Given the description of an element on the screen output the (x, y) to click on. 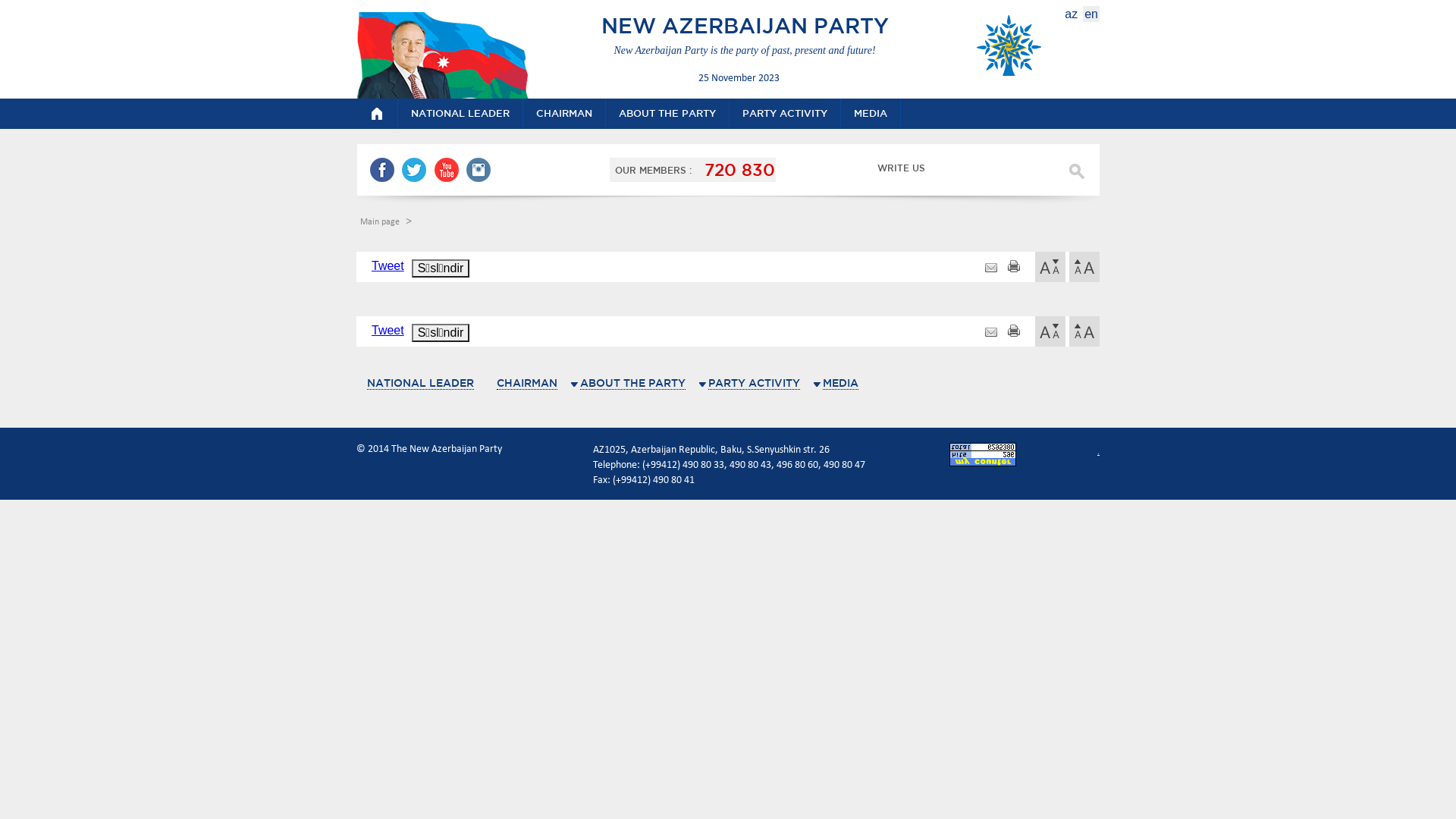
print Element type: hover (1013, 267)
MEDIA Element type: text (840, 382)
http://yap.az/en/view/pages/12 Element type: hover (991, 332)
NATIONAL LEADER Element type: text (460, 112)
PARTY ACTIVITY Element type: text (754, 382)
. Element type: text (1098, 451)
Tweet Element type: text (387, 265)
print Element type: hover (1013, 332)
WRITE US Element type: text (891, 169)
CHAIRMAN Element type: text (564, 112)
ABOUT THE PARTY Element type: text (632, 382)
Tweet Element type: text (387, 329)
az Element type: text (1071, 13)
CHAIRMAN Element type: text (526, 382)
Main page Element type: text (380, 221)
en Element type: text (1090, 13)
http://yap.az/en/view/pages/12 Element type: hover (991, 267)
NATIONAL LEADER Element type: text (420, 382)
PARTY ACTIVITY Element type: text (784, 112)
ABOUT THE PARTY Element type: text (667, 112)
MEDIA Element type: text (870, 112)
